Given the description of an element on the screen output the (x, y) to click on. 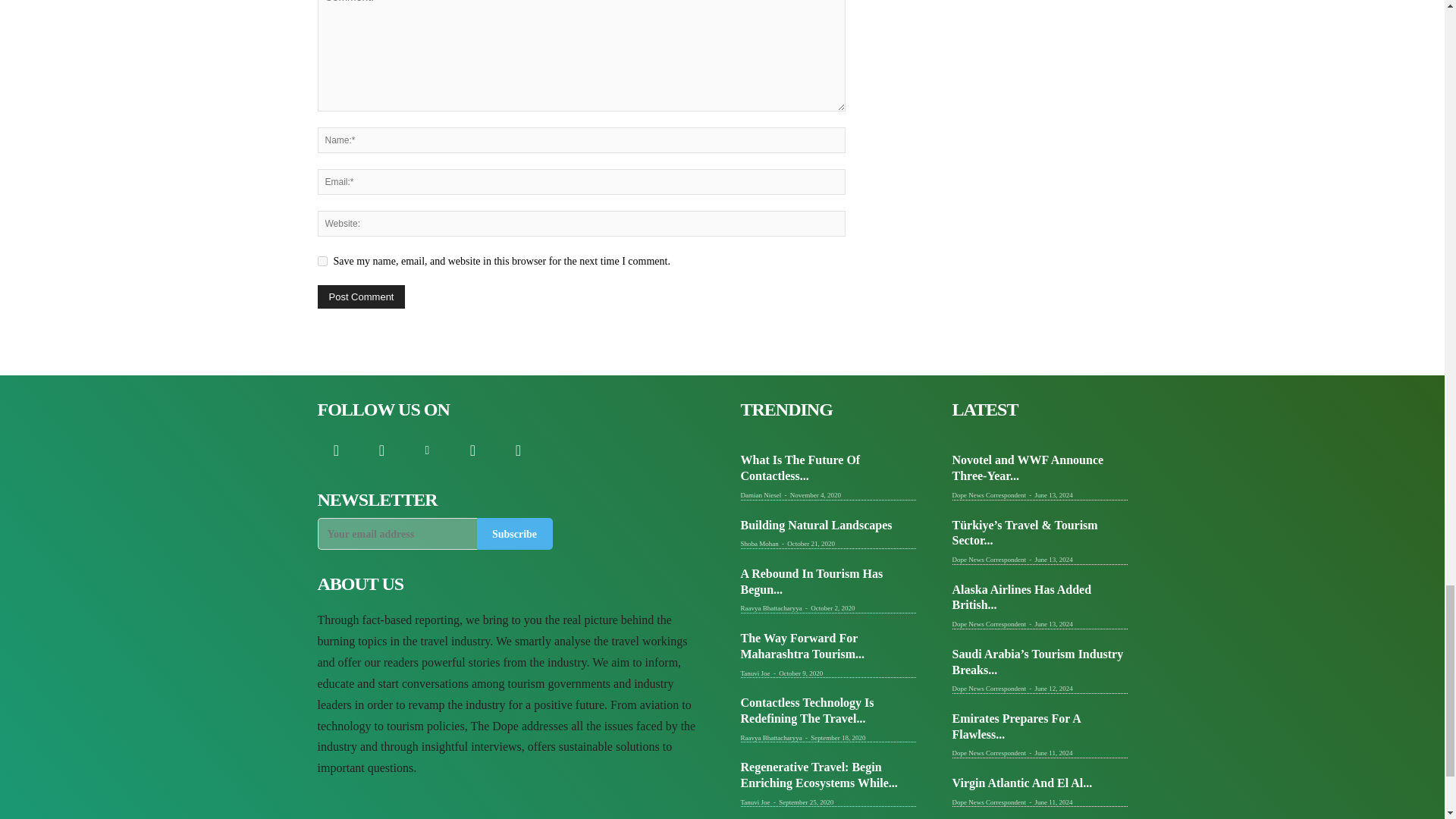
Post Comment (360, 296)
yes (321, 261)
